Given the description of an element on the screen output the (x, y) to click on. 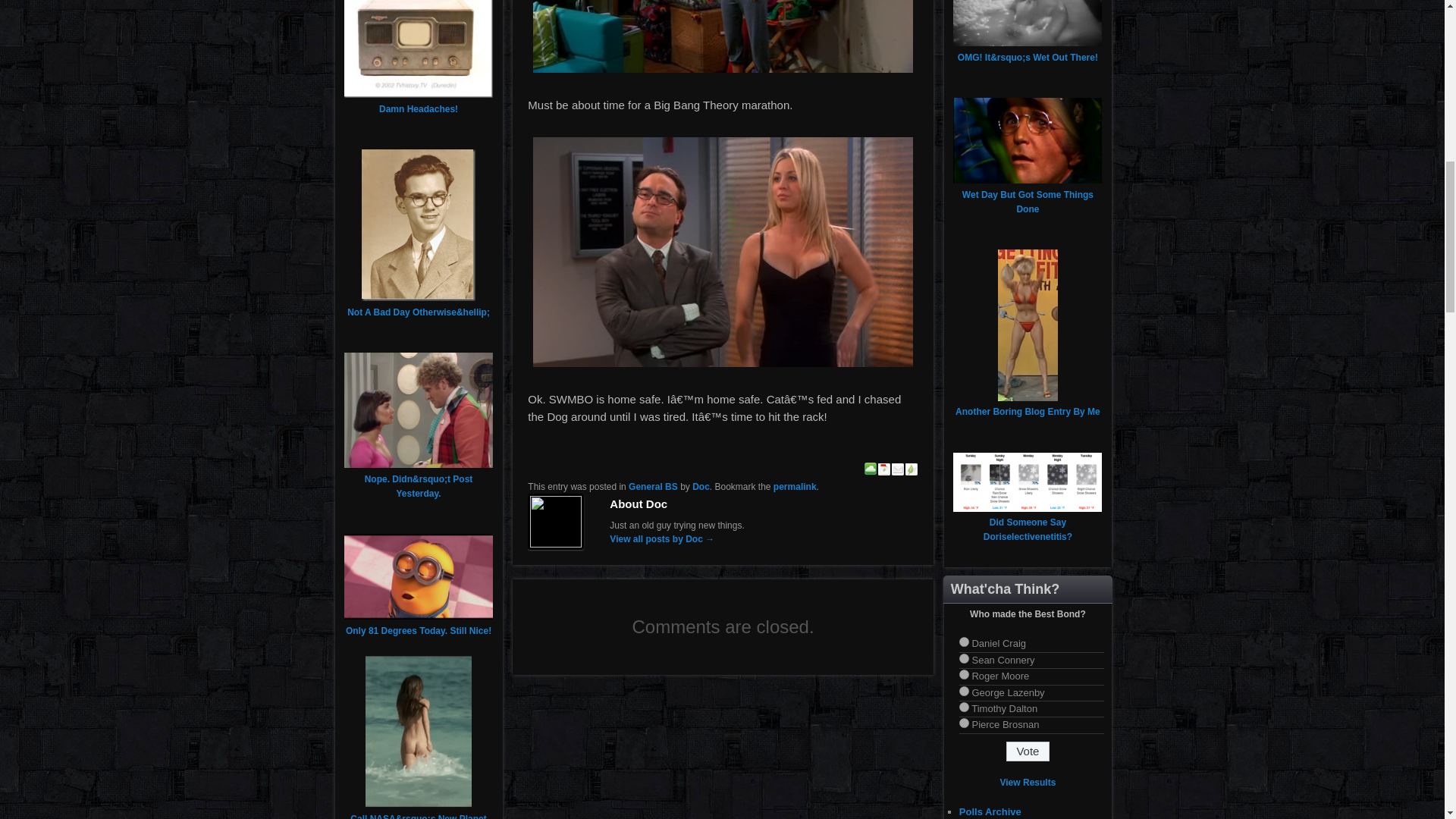
Print page (911, 471)
24 (964, 691)
permalink (794, 486)
Doc (701, 486)
22 (964, 658)
Damn Headaches! (418, 109)
PDF page (884, 471)
General BS (653, 486)
26 (964, 723)
Email page (897, 471)
Save page (870, 471)
23 (964, 674)
vlcsnap-00242 (723, 36)
   Vote    (1027, 751)
21 (964, 642)
